Given the description of an element on the screen output the (x, y) to click on. 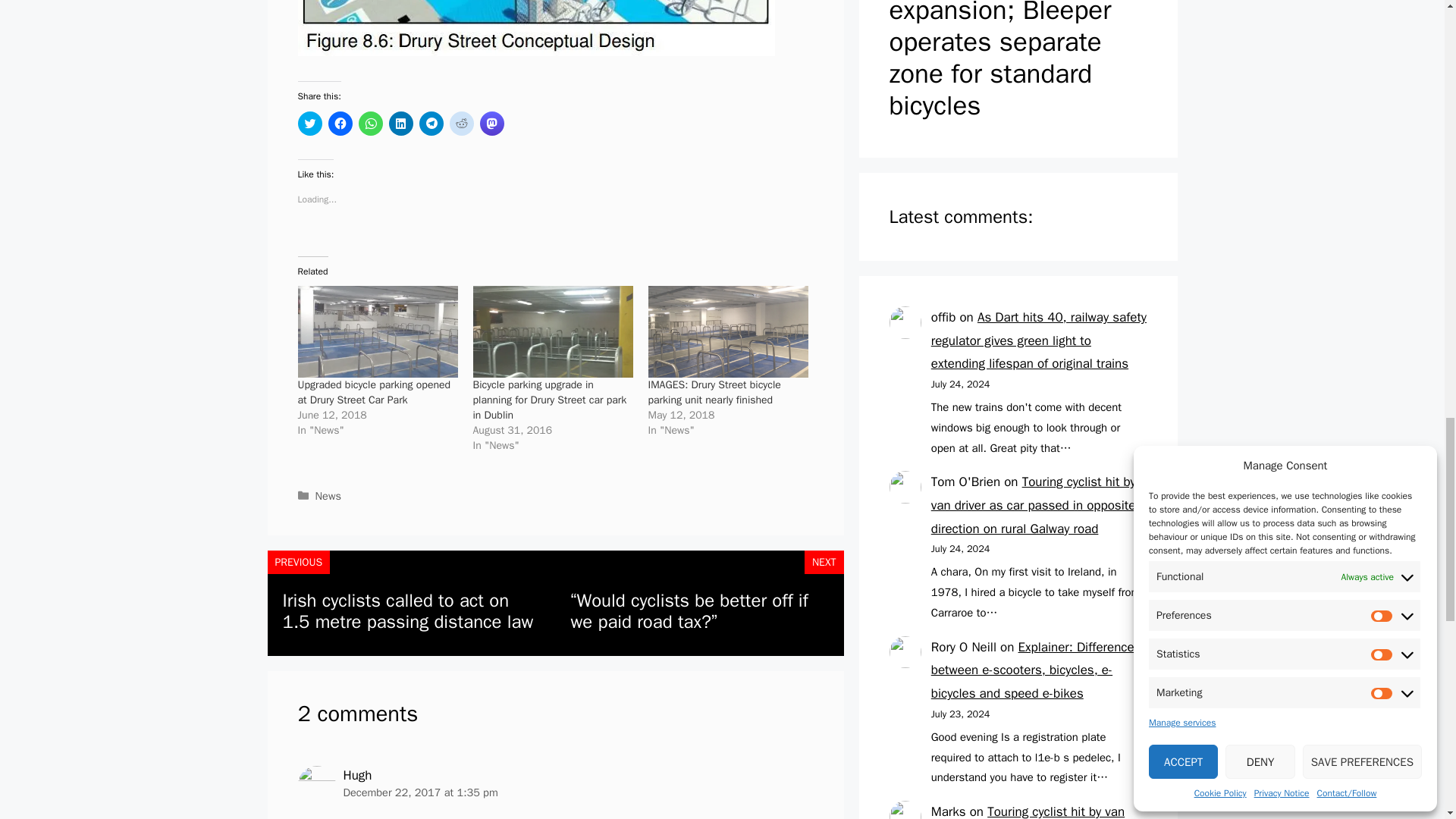
Click to share on Reddit (460, 123)
Click to share on Facebook (339, 123)
Click to share on Twitter (309, 123)
Click to share on LinkedIn (400, 123)
Click to share on WhatsApp (369, 123)
Click to share on Telegram (430, 123)
Upgraded bicycle parking opened at Drury Street Car Park (373, 392)
Upgraded bicycle parking opened at Drury Street Car Park (377, 331)
Click to share on Mastodon (491, 123)
